Given the description of an element on the screen output the (x, y) to click on. 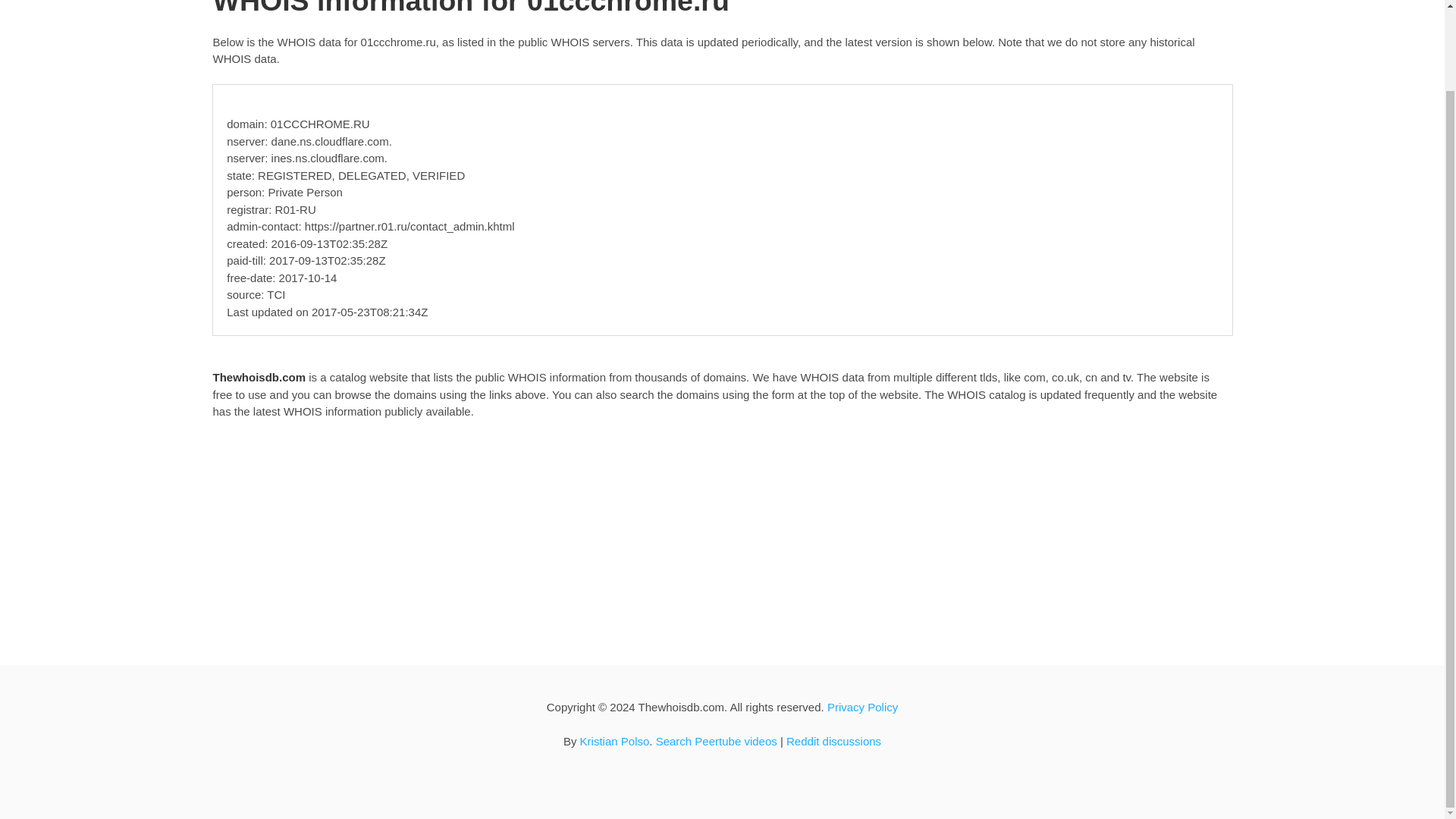
Reddit discussions (833, 740)
Search Peertube videos (716, 740)
Kristian Polso (614, 740)
Privacy Policy (862, 707)
